Given the description of an element on the screen output the (x, y) to click on. 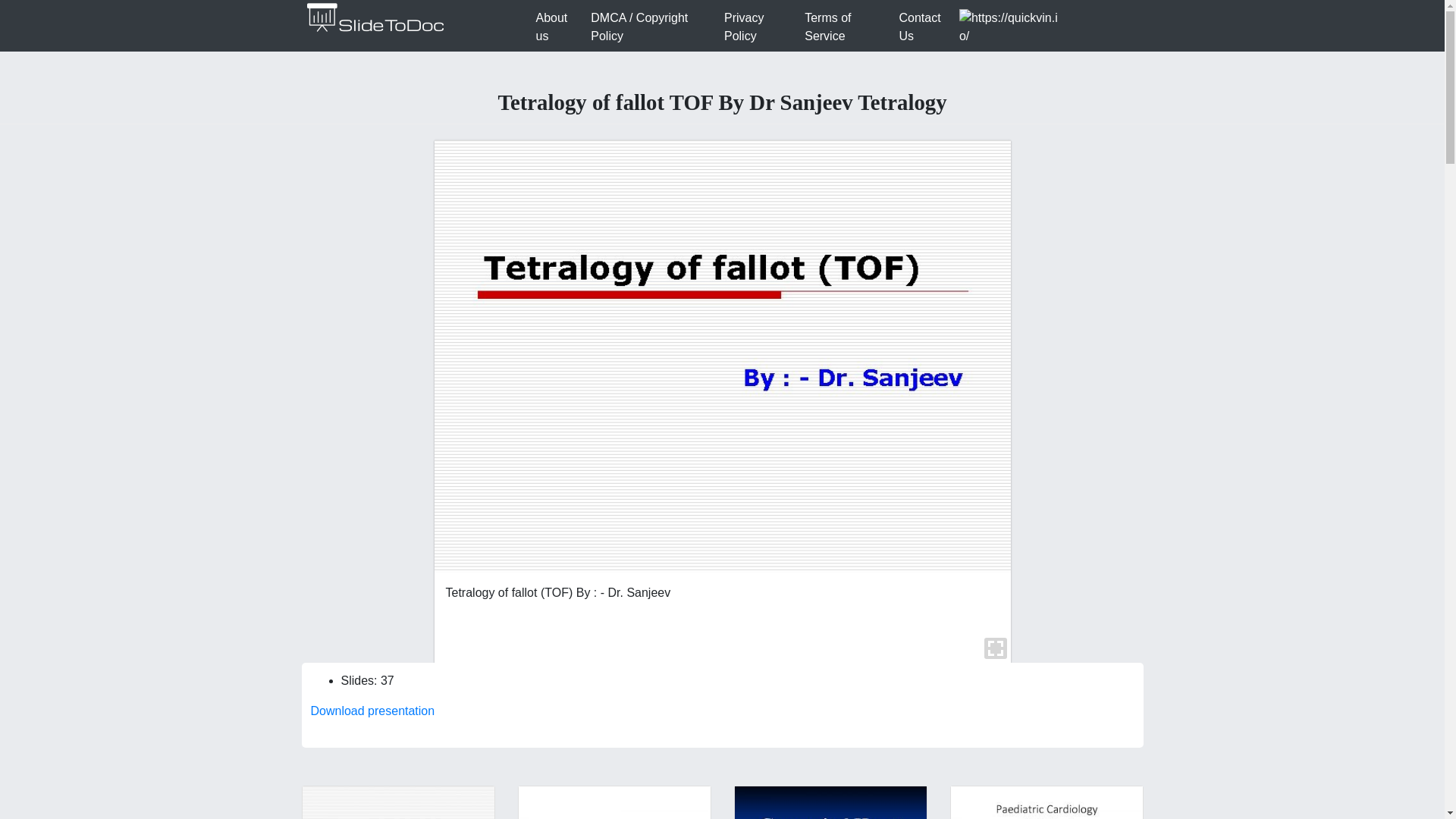
Tet spell (829, 802)
Terms of Service (844, 27)
Contact Us (925, 27)
Download presentation (373, 710)
Privacy Policy (757, 27)
Peds vital signs (1046, 802)
About us (557, 27)
Mary beth sanders (614, 802)
Boot shaped heart (397, 802)
